Given the description of an element on the screen output the (x, y) to click on. 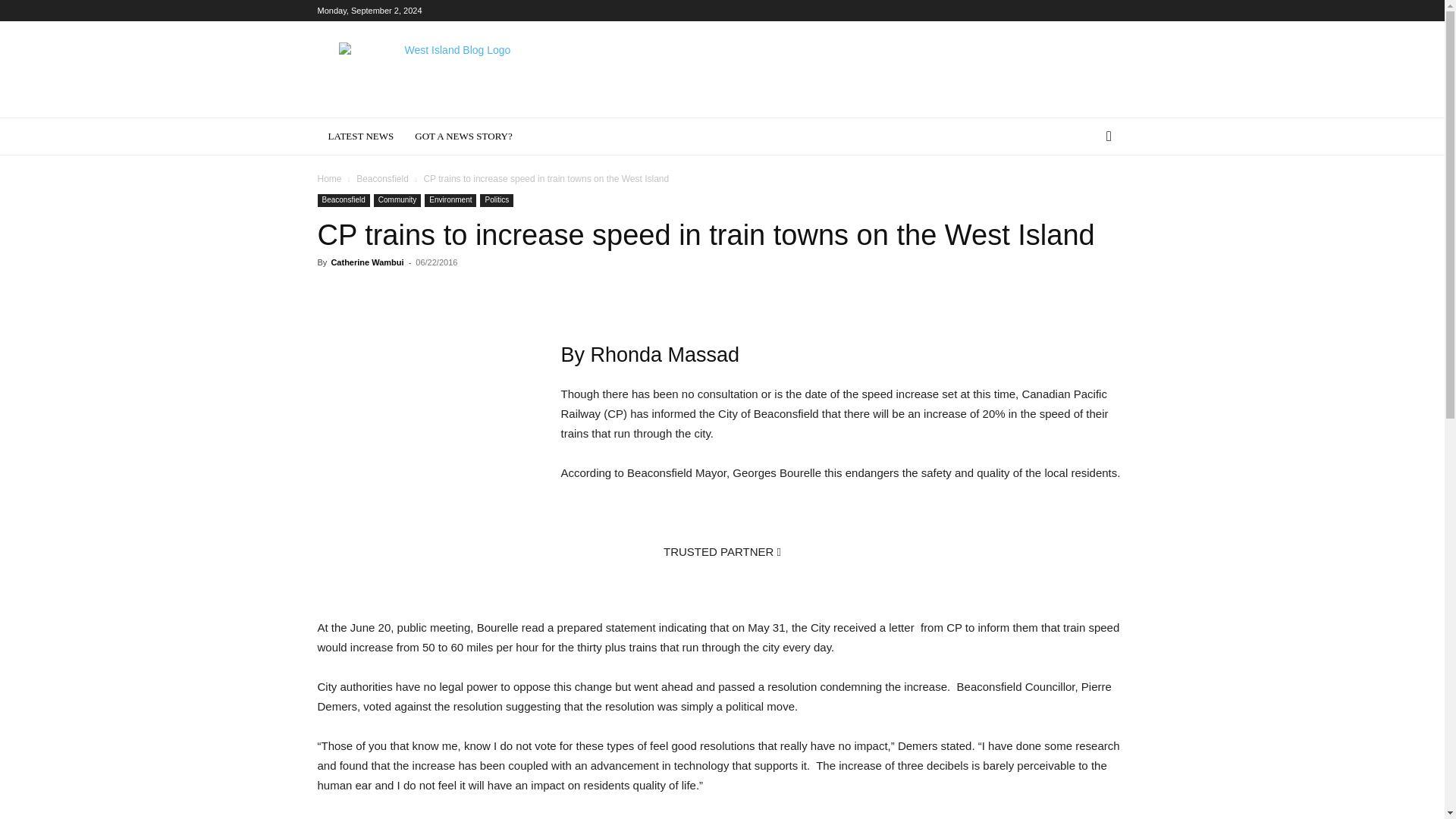
Bitcoin Casino - Official Website (721, 580)
Beaconsfield (343, 200)
Home (328, 178)
Community (398, 200)
Environment (450, 200)
View all posts in Beaconsfield (382, 178)
GOT A NEWS STORY? (463, 135)
West Island Blog (450, 76)
Search (1085, 197)
Catherine Wambui (366, 261)
